Given the description of an element on the screen output the (x, y) to click on. 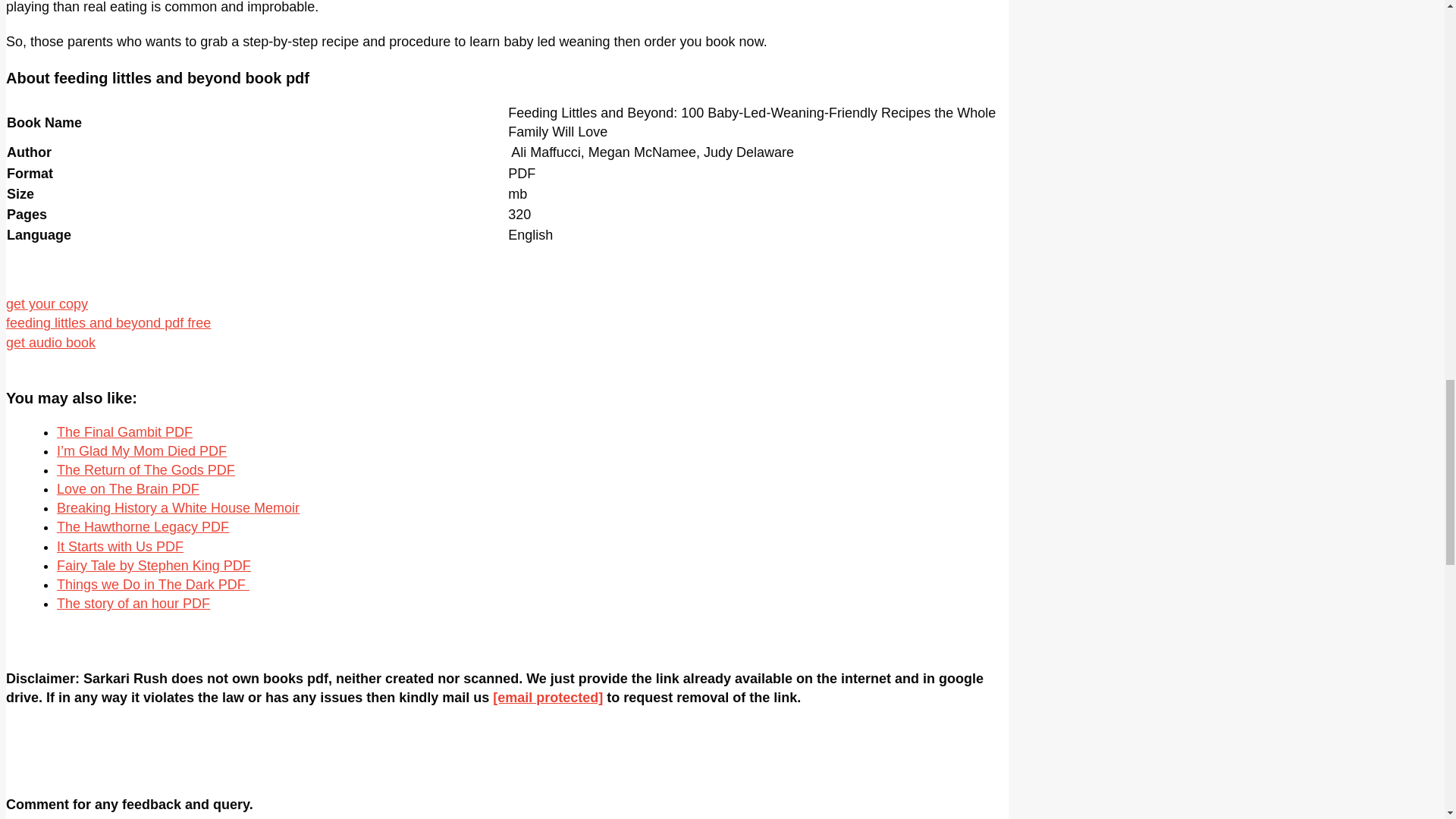
Things we Do in The Dark PDF  (152, 584)
feeding littles and beyond pdf free (108, 322)
get your copy (46, 304)
The Return of The Gods PDF (145, 469)
Breaking History a White House Memoir (177, 507)
get audio book (50, 342)
Fairy Tale by Stephen King PDF (153, 565)
Love on The Brain PDF (127, 488)
The Hawthorne Legacy PDF (142, 526)
The Final Gambit PDF (124, 432)
